Given the description of an element on the screen output the (x, y) to click on. 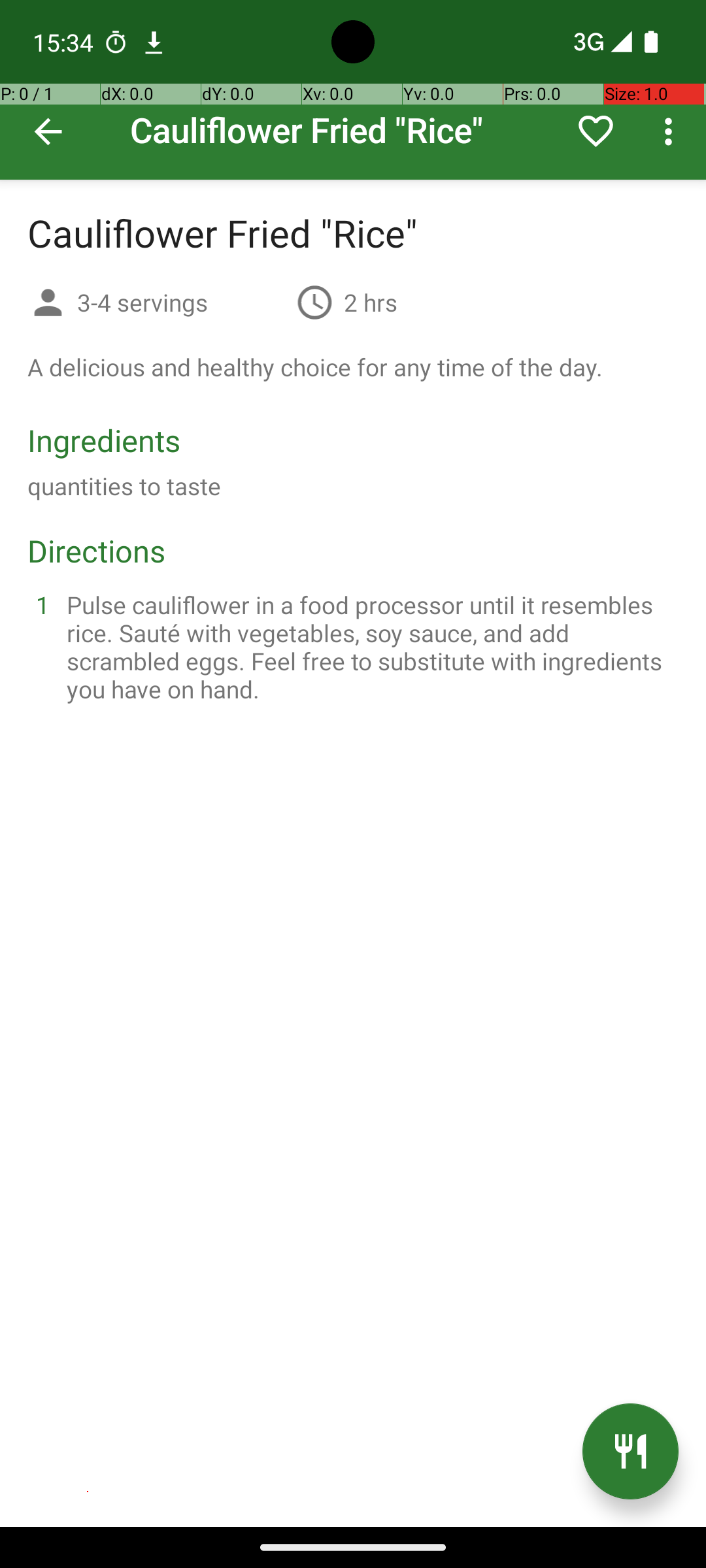
Pulse cauliflower in a food processor until it resembles rice. Sauté with vegetables, soy sauce, and add scrambled eggs. Feel free to substitute with ingredients you have on hand. Element type: android.widget.TextView (368, 646)
